Given the description of an element on the screen output the (x, y) to click on. 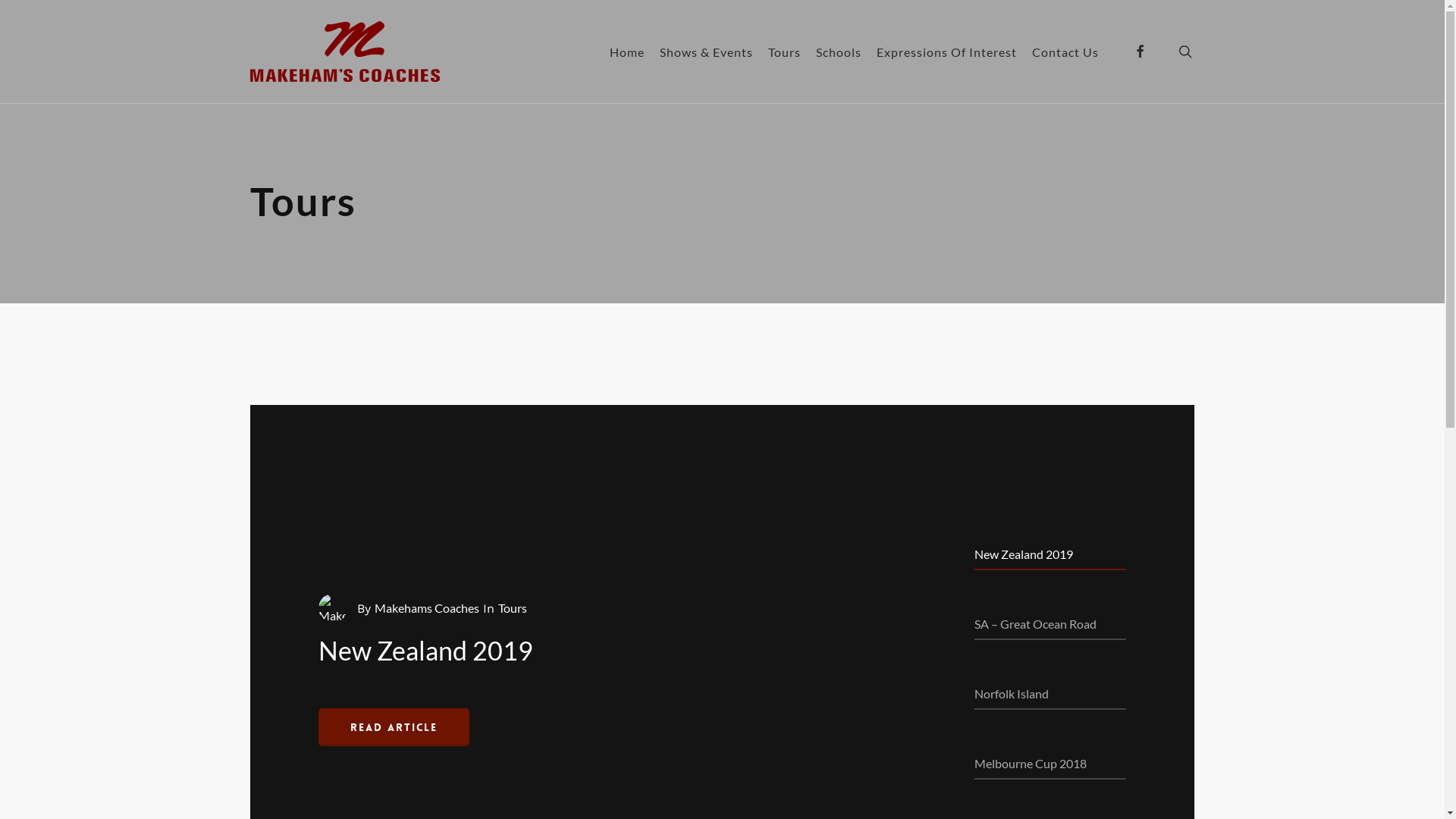
search Element type: text (1185, 51)
Facebook Element type: text (1139, 51)
Shows & Events Element type: text (706, 51)
Makehams Coaches Element type: text (426, 607)
New
Zealand
2019 Element type: text (425, 652)
Expressions Of Interest Element type: text (946, 51)
Schools Element type: text (838, 51)
Read Article Element type: text (393, 727)
Tours Element type: text (512, 607)
Tours Element type: text (784, 51)
Home Element type: text (626, 51)
Contact Us Element type: text (1065, 51)
